Given the description of an element on the screen output the (x, y) to click on. 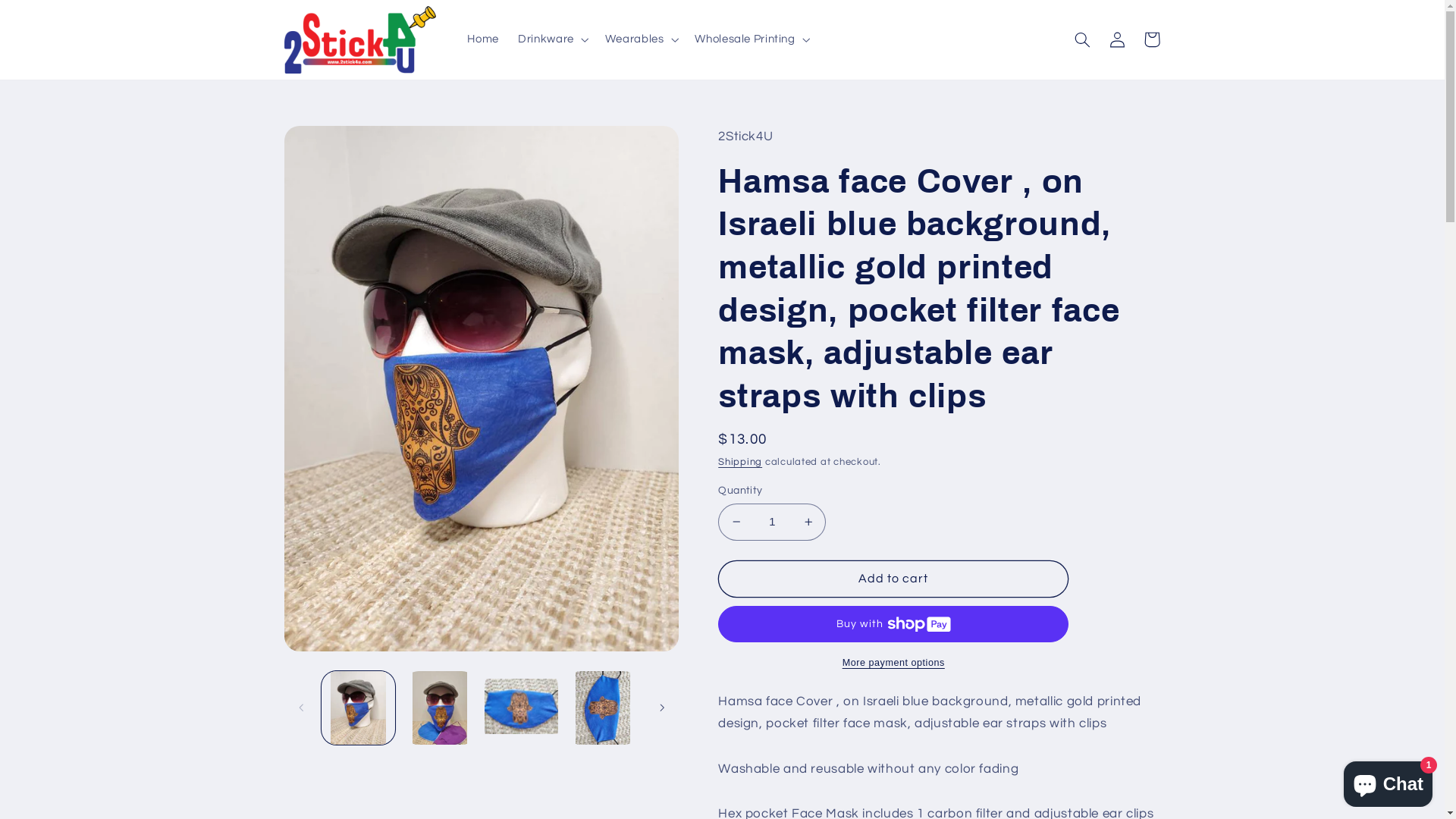
Cart Element type: text (1151, 38)
Skip to product information Element type: text (331, 143)
More payment options Element type: text (893, 663)
Home Element type: text (483, 39)
Shopify online store chat Element type: hover (1388, 780)
Log in Element type: text (1116, 38)
Shipping Element type: text (740, 462)
Add to cart Element type: text (893, 578)
